Given the description of an element on the screen output the (x, y) to click on. 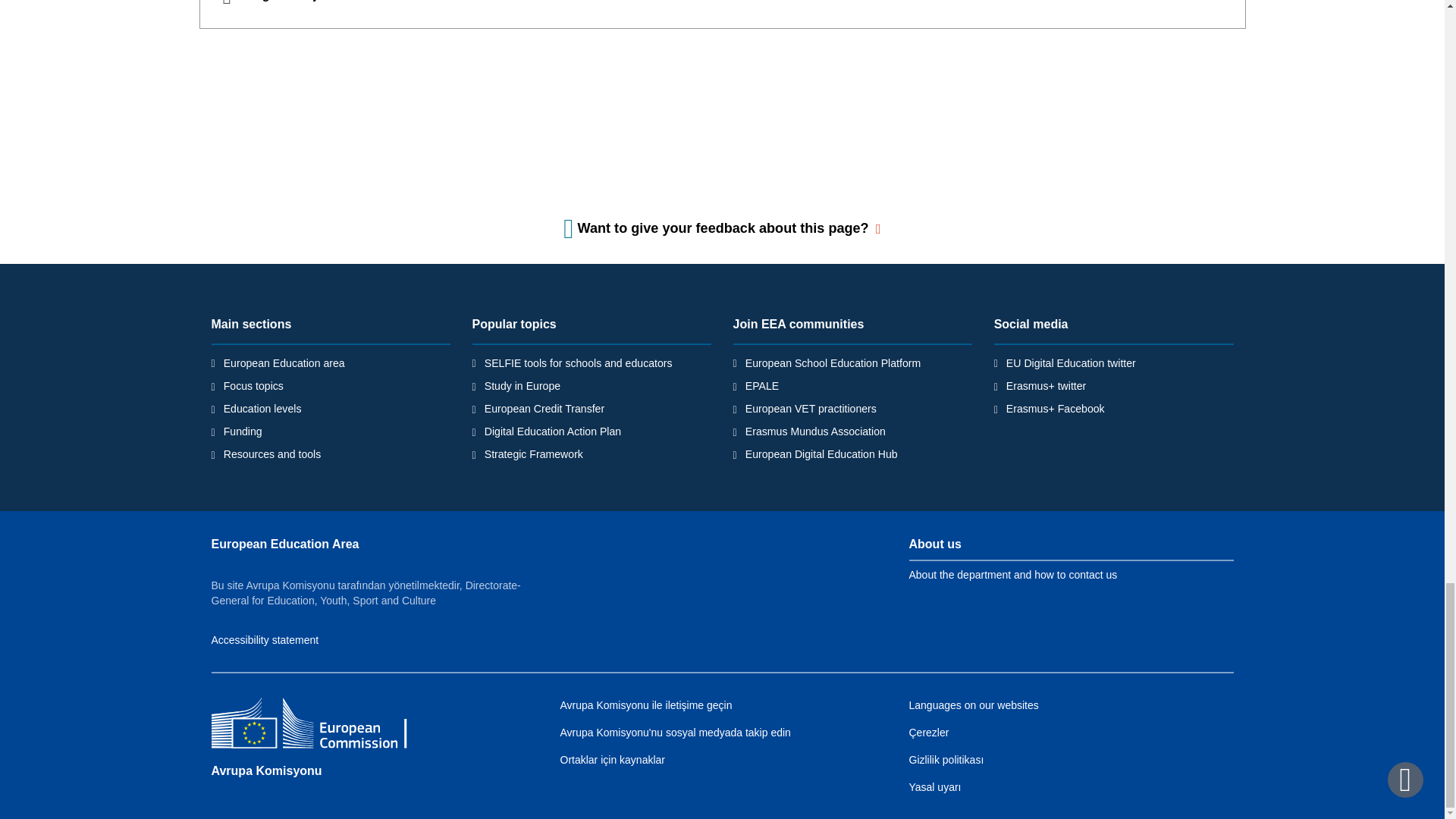
Digital Education Action Plan (552, 431)
European School Education Platform (832, 363)
Avrupa Komisyonu (266, 770)
About the department and how to contact us (1012, 574)
Accessibility statement (264, 639)
Register to join the EIPC network (721, 13)
Education levels (262, 408)
Resources and tools (272, 453)
Focus topics (253, 386)
European Commission (320, 724)
